Given the description of an element on the screen output the (x, y) to click on. 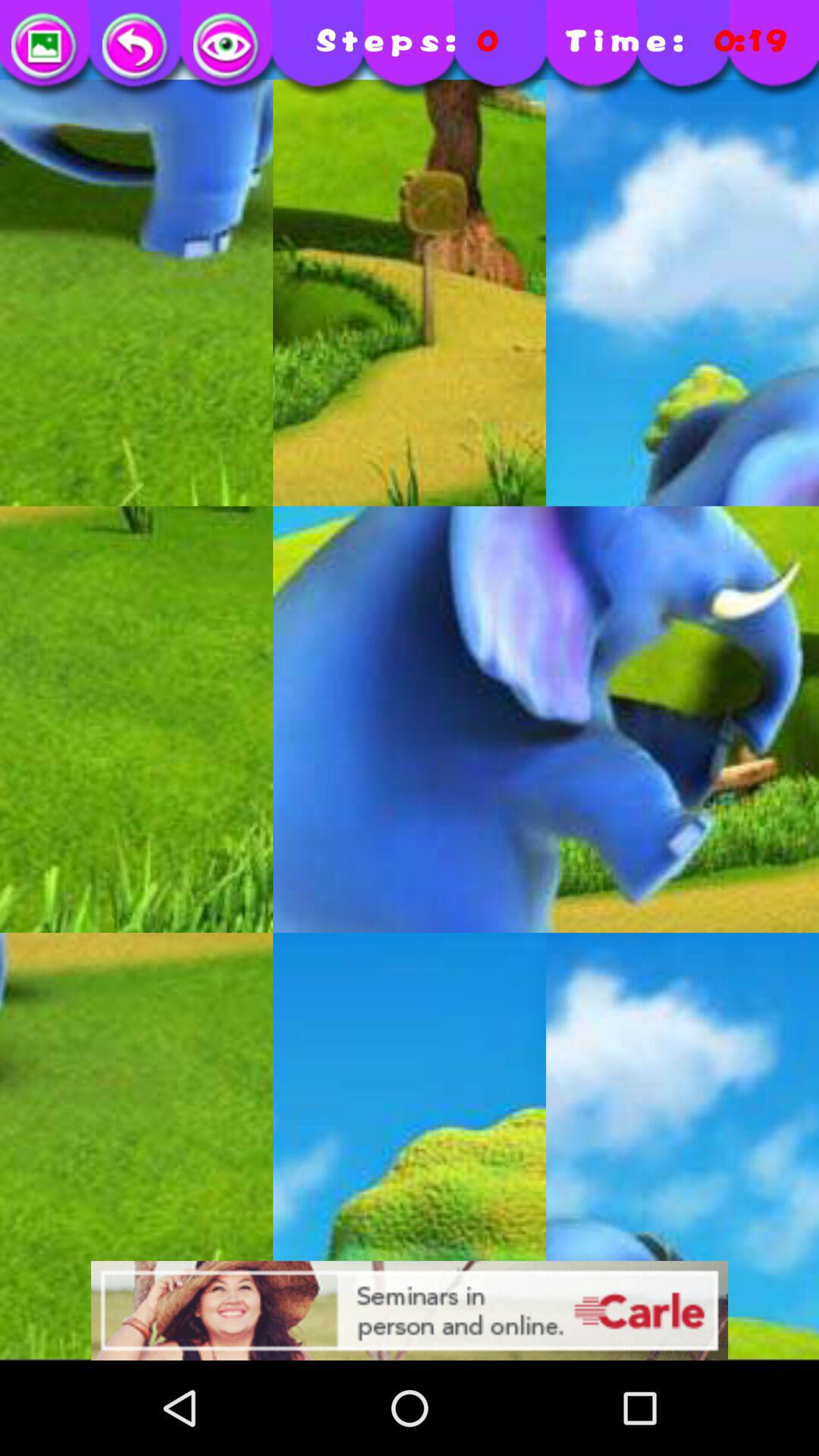
go back (136, 47)
